Given the description of an element on the screen output the (x, y) to click on. 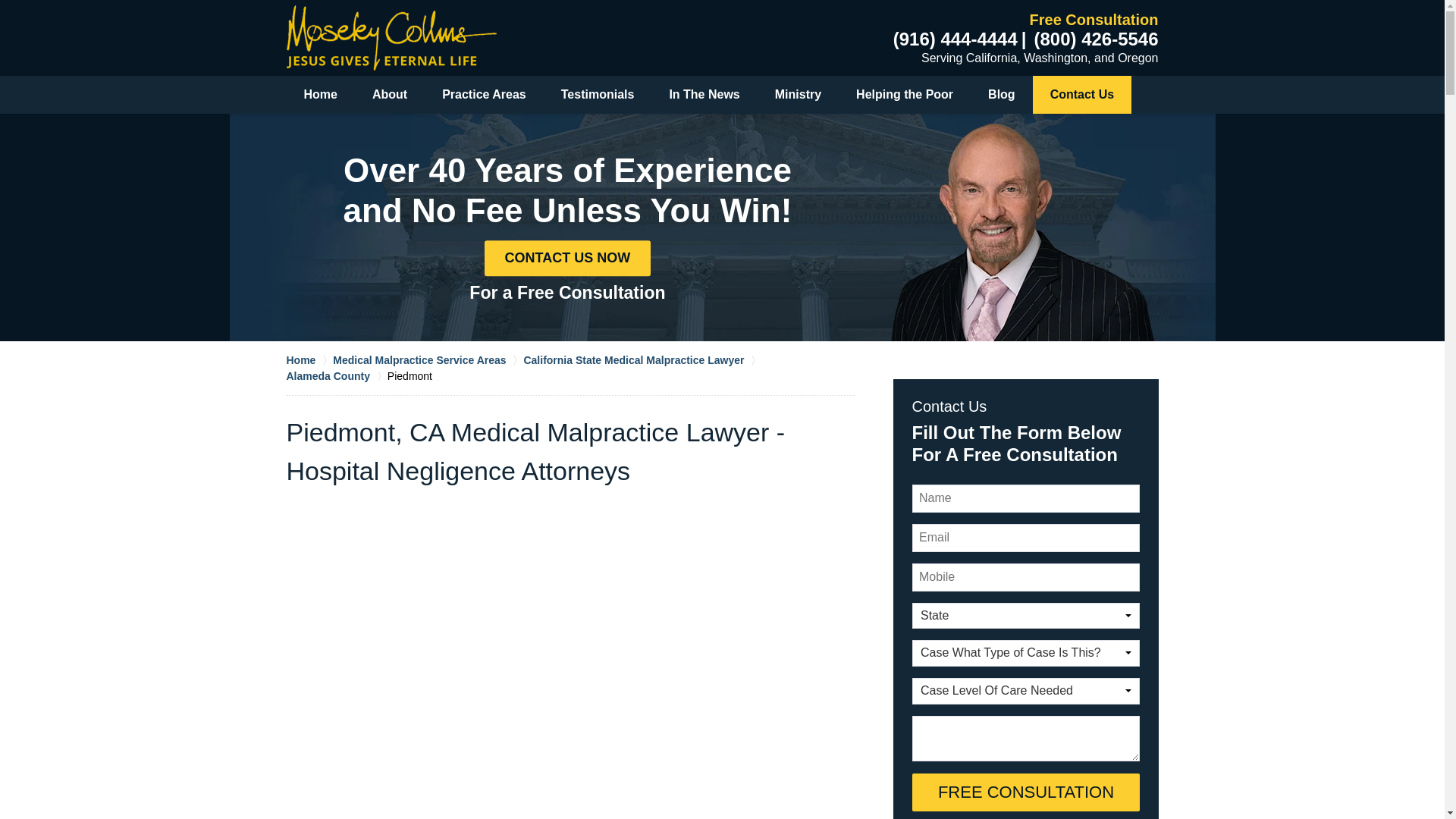
Alameda County (336, 376)
Sacramento Doctor Malpractice Lawyer Moseley Collins Home (391, 37)
CONTACT US NOW (567, 258)
Home (309, 359)
Medical Malpractice Service Areas (427, 359)
Practice Areas (484, 94)
About (390, 94)
California State Medical Malpractice Lawyer (641, 359)
Home (320, 94)
Helping the Poor (904, 94)
Back to Home (391, 37)
Contact Us (1081, 94)
Blog (1001, 94)
Ministry (797, 94)
In The News (703, 94)
